Given the description of an element on the screen output the (x, y) to click on. 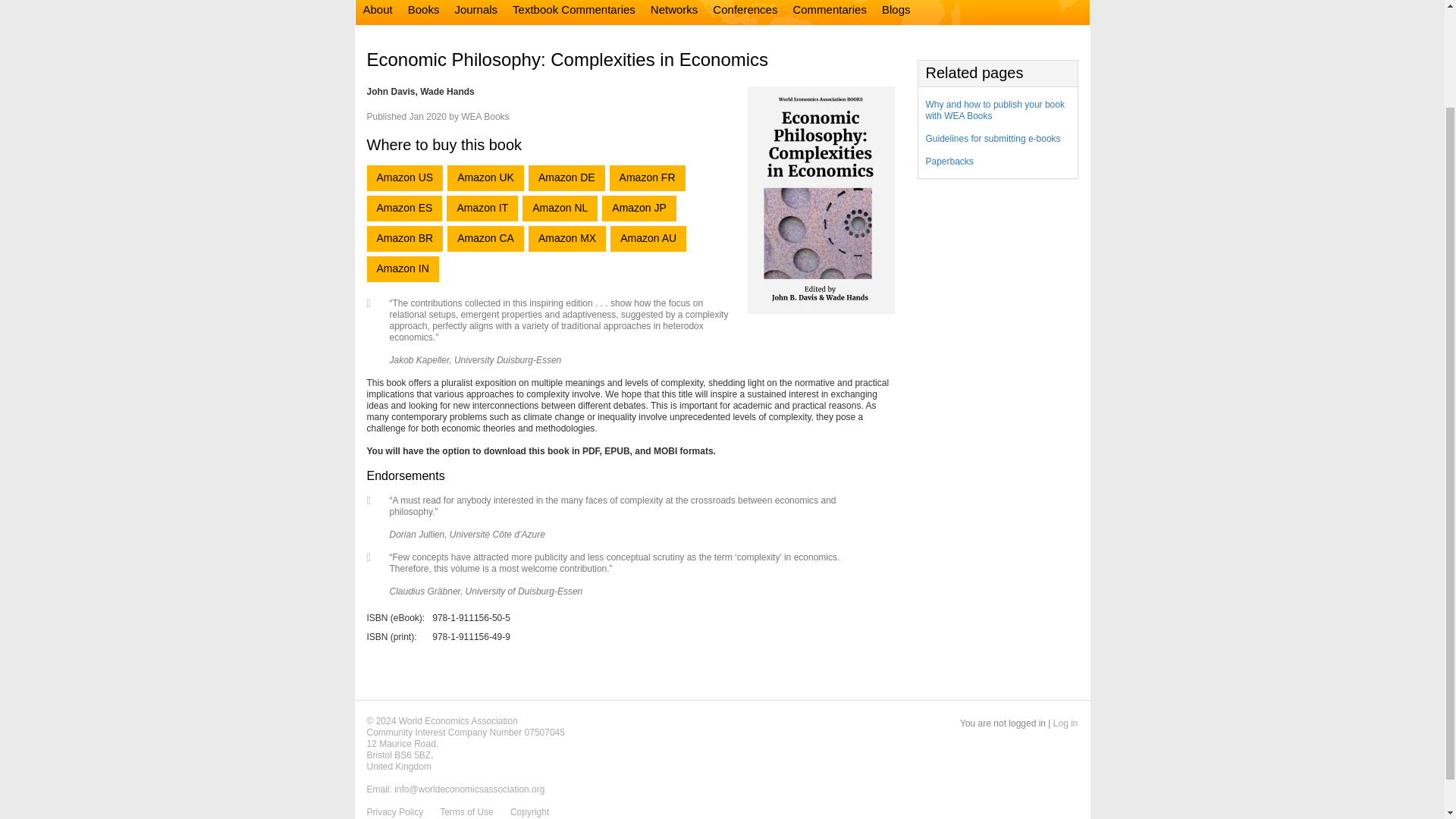
Textbook Commentaries (574, 12)
Conferences (744, 12)
Networks (674, 12)
Commentaries (829, 12)
About (376, 12)
Journals (475, 12)
Amazon UK (485, 177)
Blogs (896, 12)
Books (423, 12)
Amazon US (405, 177)
